Given the description of an element on the screen output the (x, y) to click on. 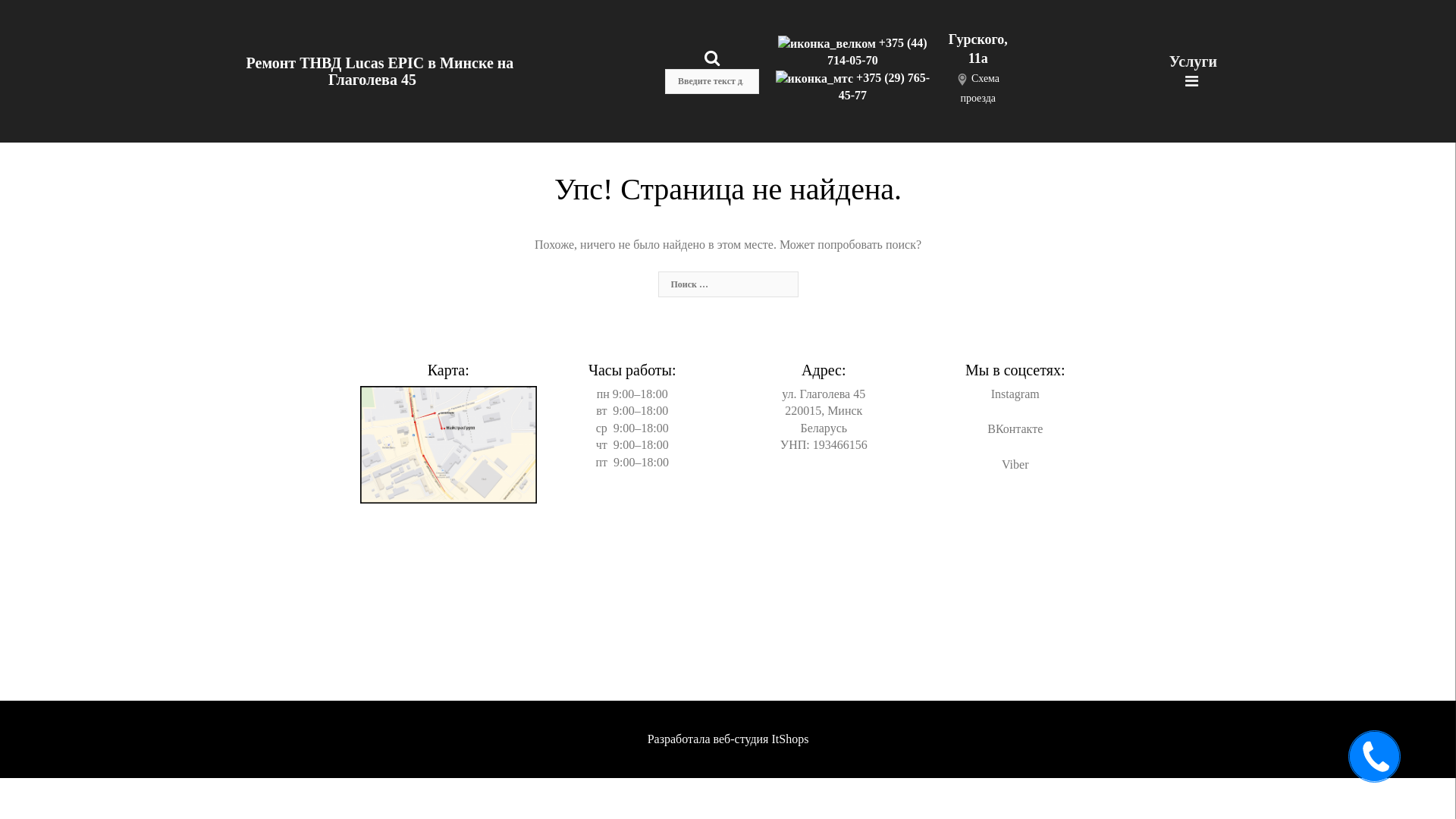
Viber Element type: text (1014, 464)
Instagram Element type: text (1014, 393)
